Given the description of an element on the screen output the (x, y) to click on. 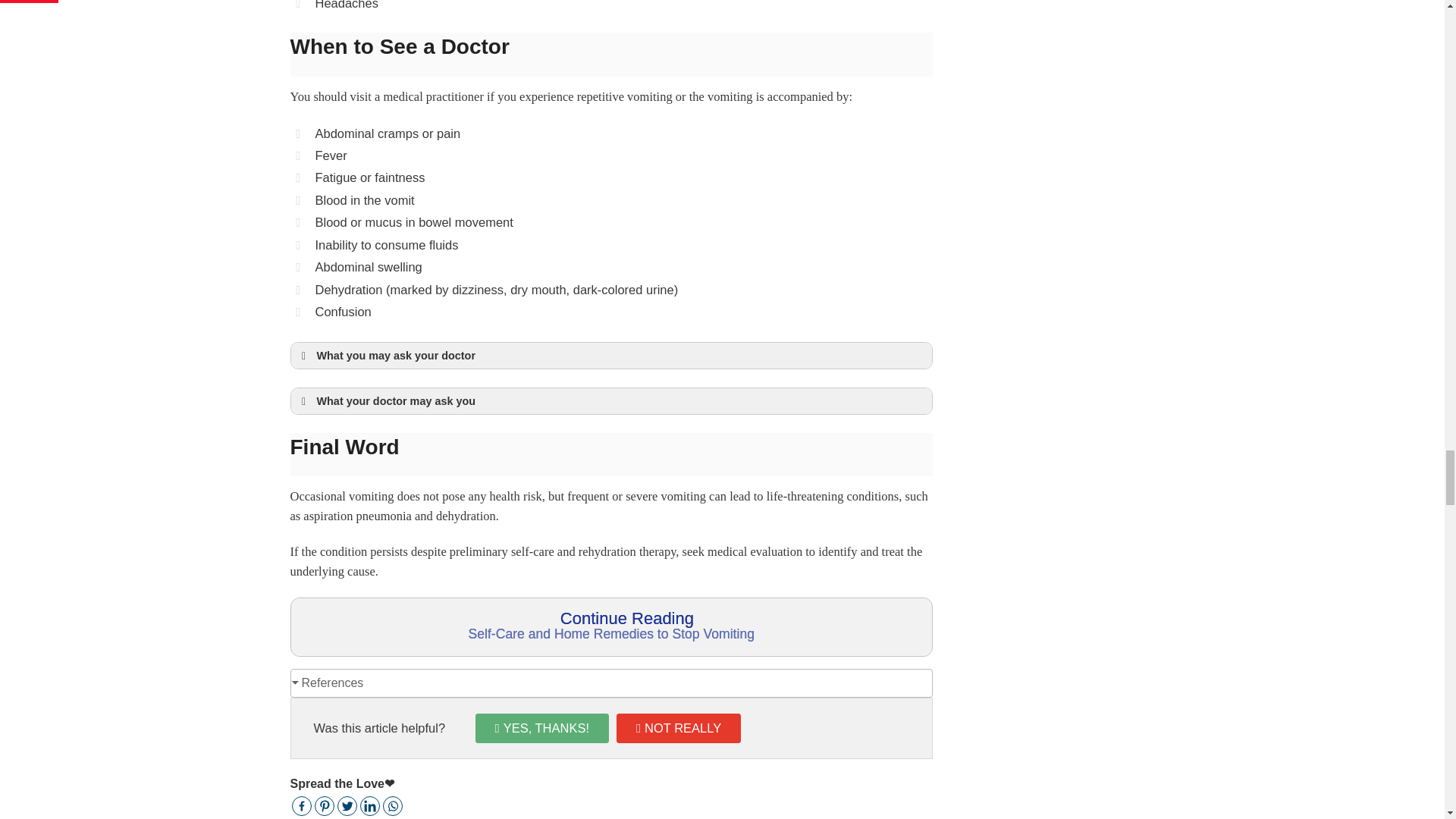
Facebook (301, 805)
References (327, 682)
Pinterest (323, 805)
NOT REALLY (678, 728)
YES, THANKS! (542, 728)
Twitter (346, 805)
